Given the description of an element on the screen output the (x, y) to click on. 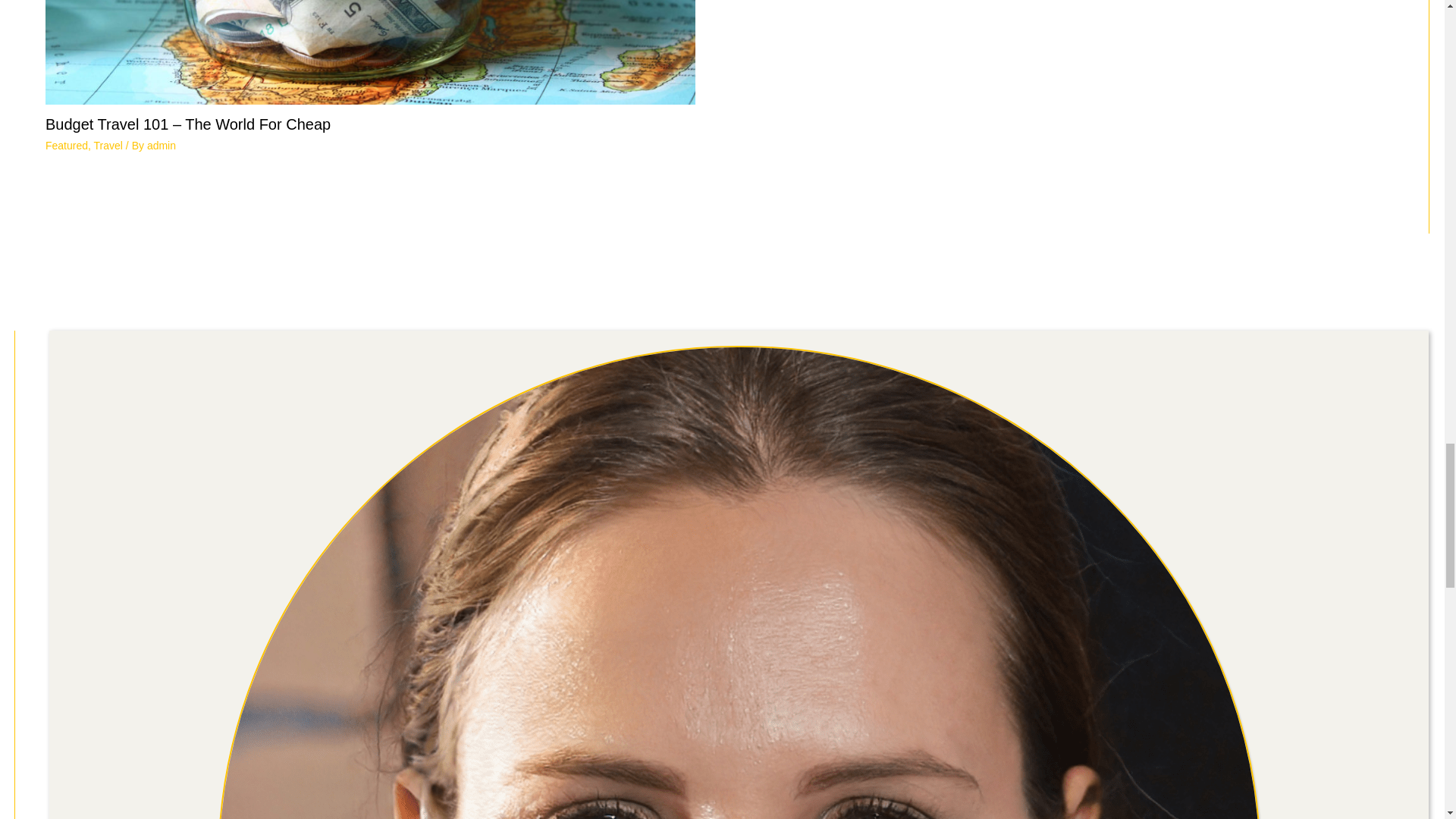
Travel (108, 145)
View all posts by admin (161, 145)
Featured (66, 145)
